Given the description of an element on the screen output the (x, y) to click on. 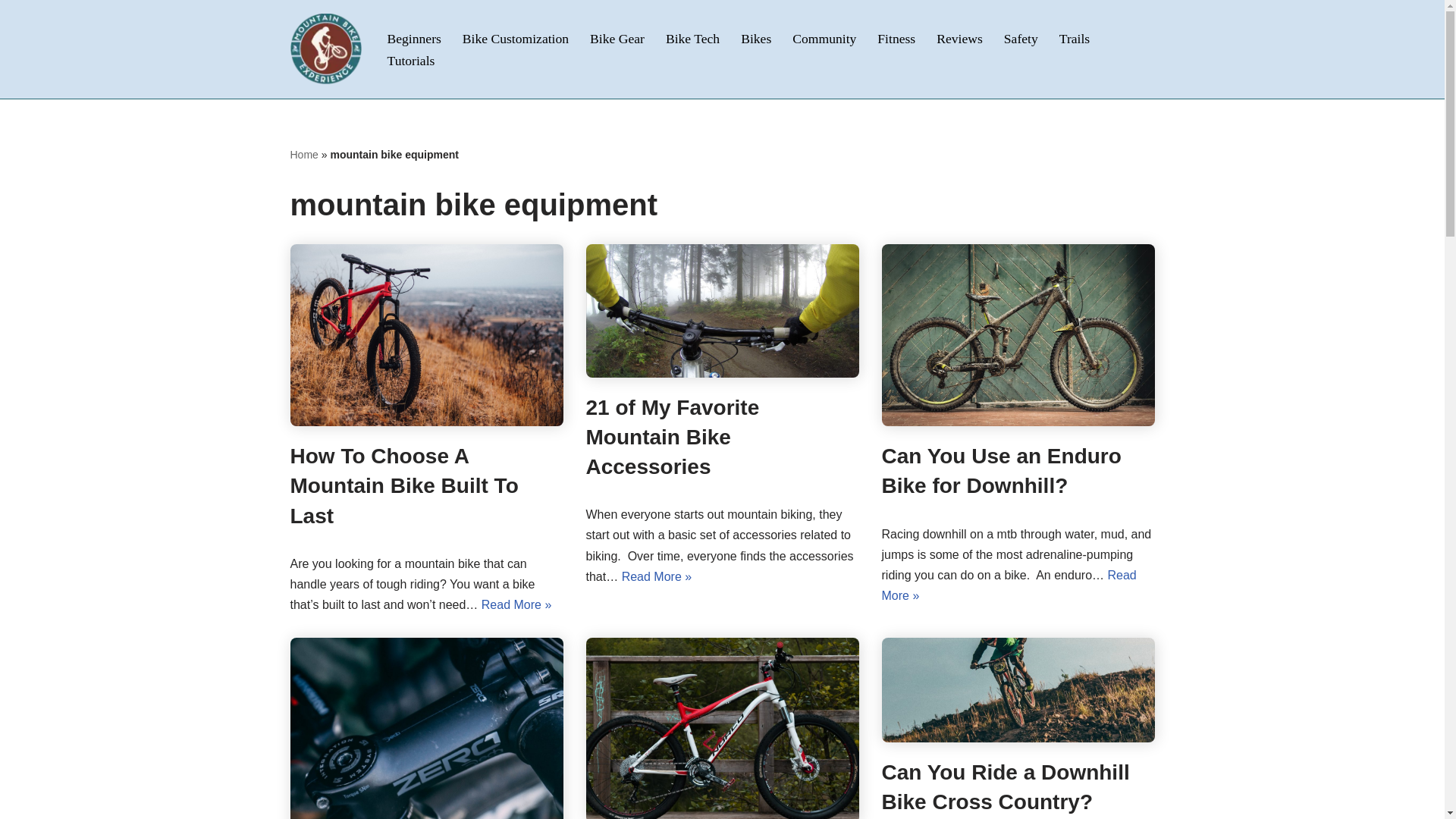
Can You Ride a Downhill Bike Cross Country? (1017, 690)
Are Mountain Bike Stems Universal (425, 728)
Can You Use an Enduro Bike for Downhill? (1017, 334)
Home (303, 154)
Beginners (414, 38)
Bikes (756, 38)
21 of My Favorite Mountain Bike Accessories (722, 310)
Bike Tech (692, 38)
How To Choose A Mountain Bike Built To Last (403, 485)
Fitness (896, 38)
Tutorials (410, 60)
21 of My Favorite Mountain Bike Accessories (671, 436)
How To Choose A Mountain Bike Built To Last (425, 334)
Skip to content (11, 31)
